Given the description of an element on the screen output the (x, y) to click on. 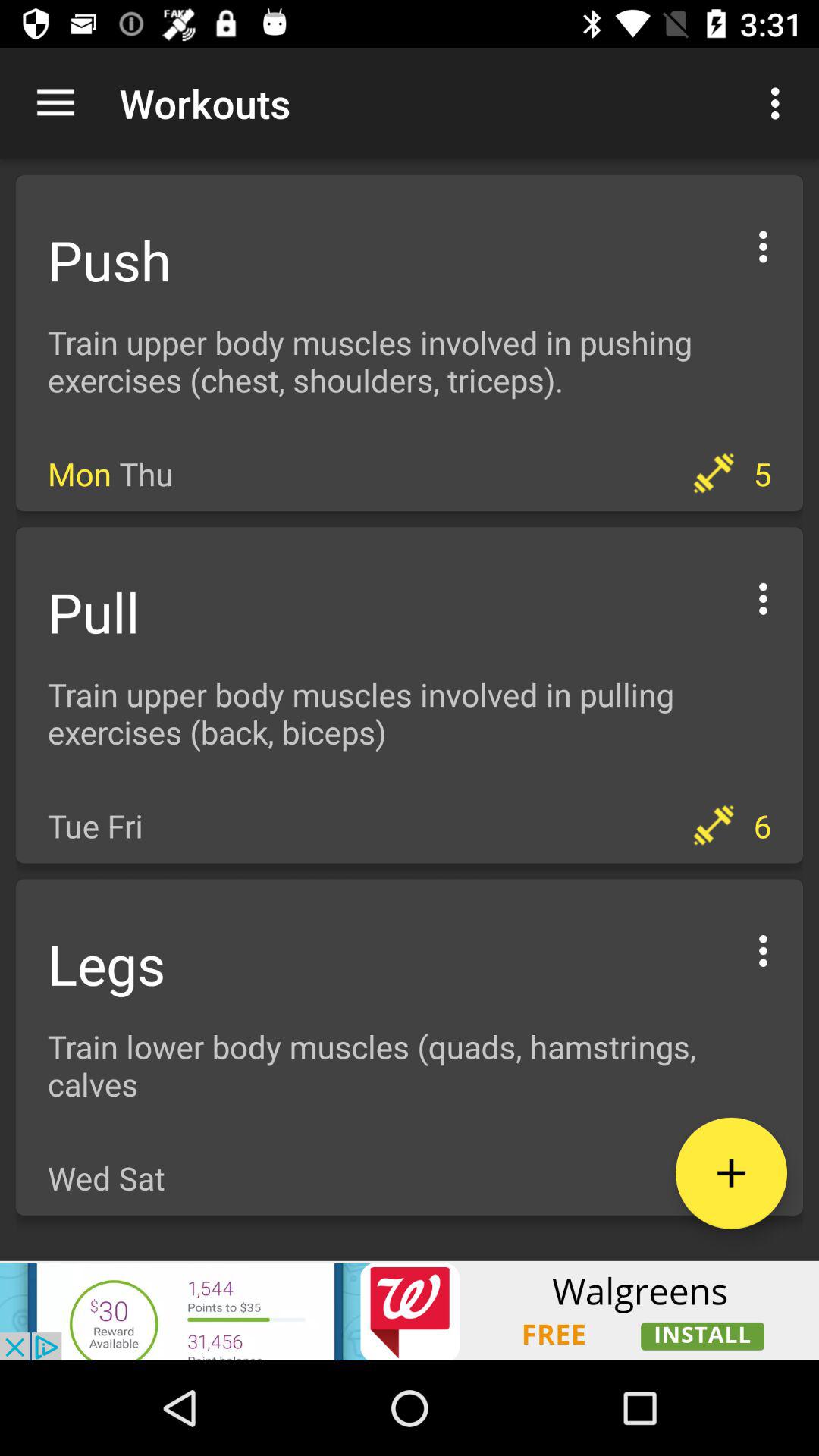
option button (763, 596)
